Given the description of an element on the screen output the (x, y) to click on. 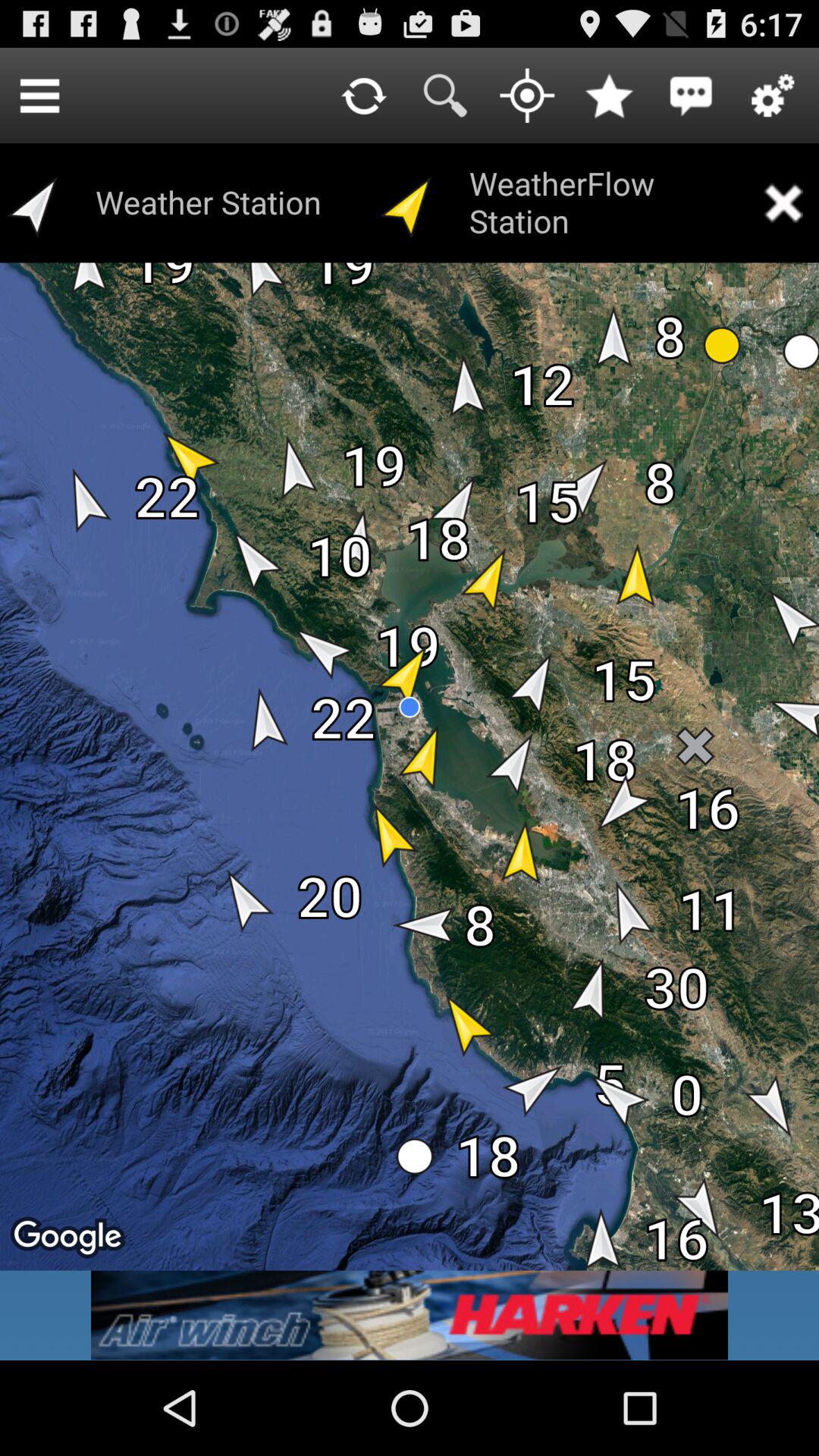
add to favourite (608, 95)
